Given the description of an element on the screen output the (x, y) to click on. 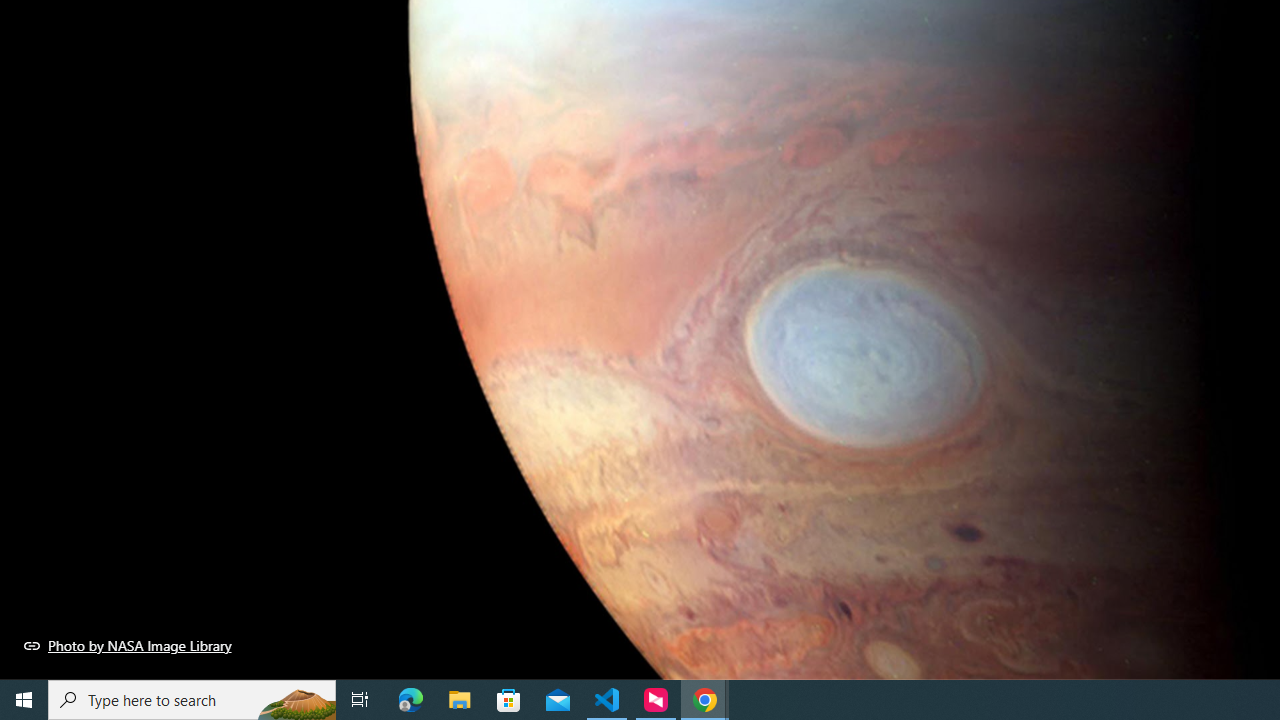
Photo by NASA Image Library (127, 645)
